Given the description of an element on the screen output the (x, y) to click on. 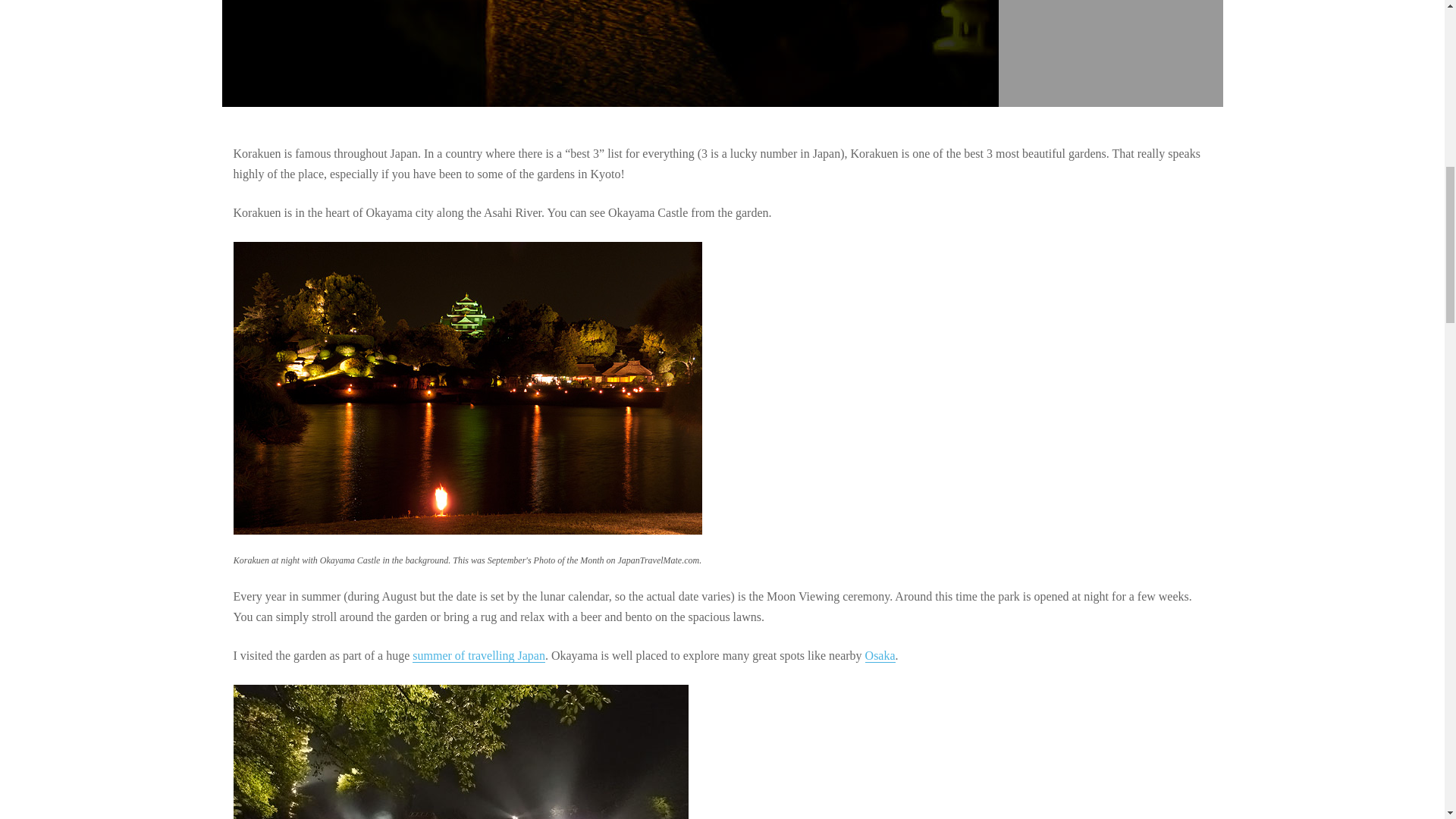
Korakuen Garden lit up at night (460, 751)
summer of travelling Japan (478, 655)
Osaka (879, 655)
